Given the description of an element on the screen output the (x, y) to click on. 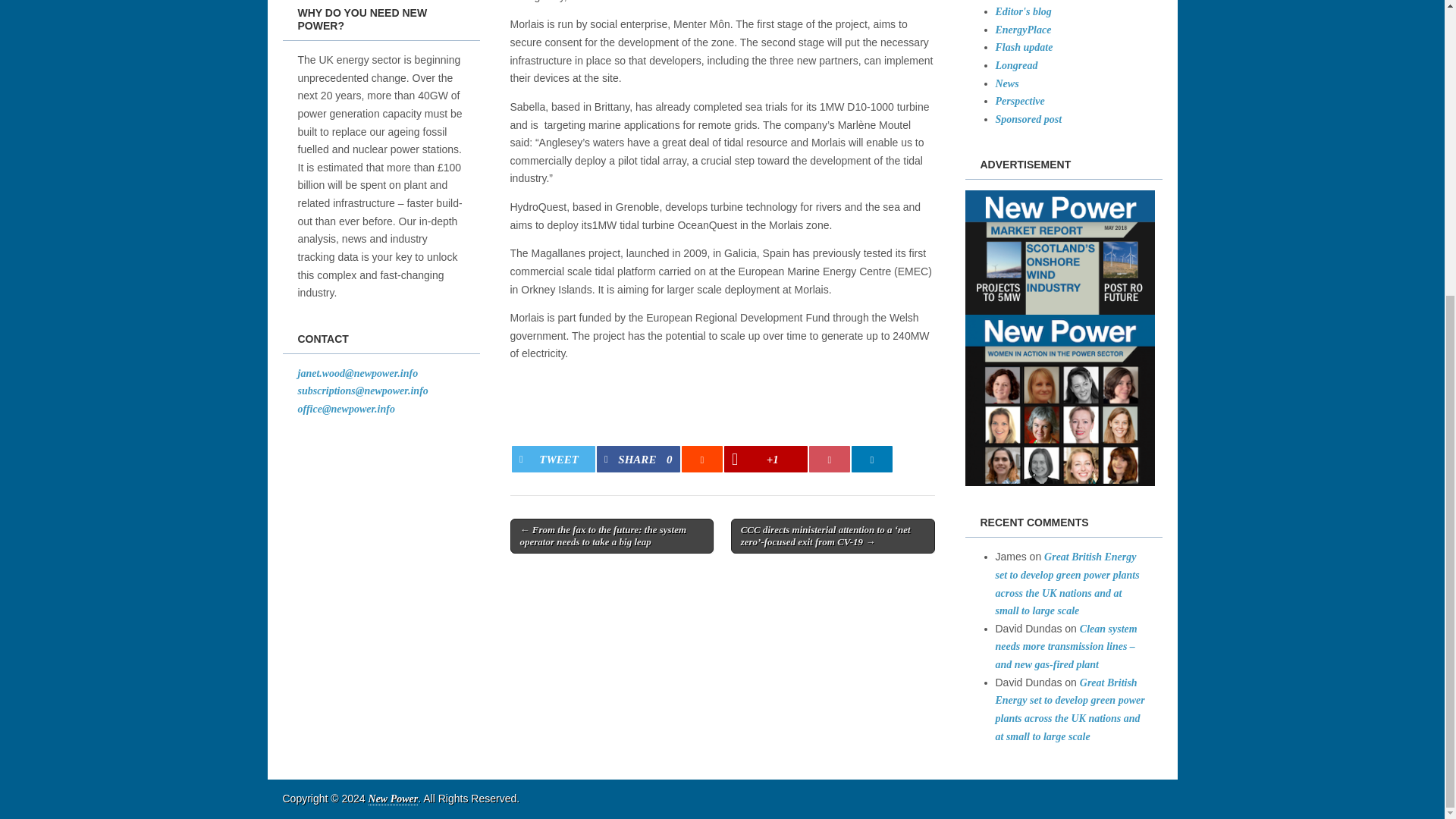
Submit to Reddit (701, 458)
Editor's blog (1022, 11)
Save to read later on Pocket (829, 458)
Share on Facebook (637, 458)
News (1005, 83)
TWEET (553, 458)
Flash update (1023, 47)
Tweet on Twitter (553, 458)
Longread (1015, 65)
